Given the description of an element on the screen output the (x, y) to click on. 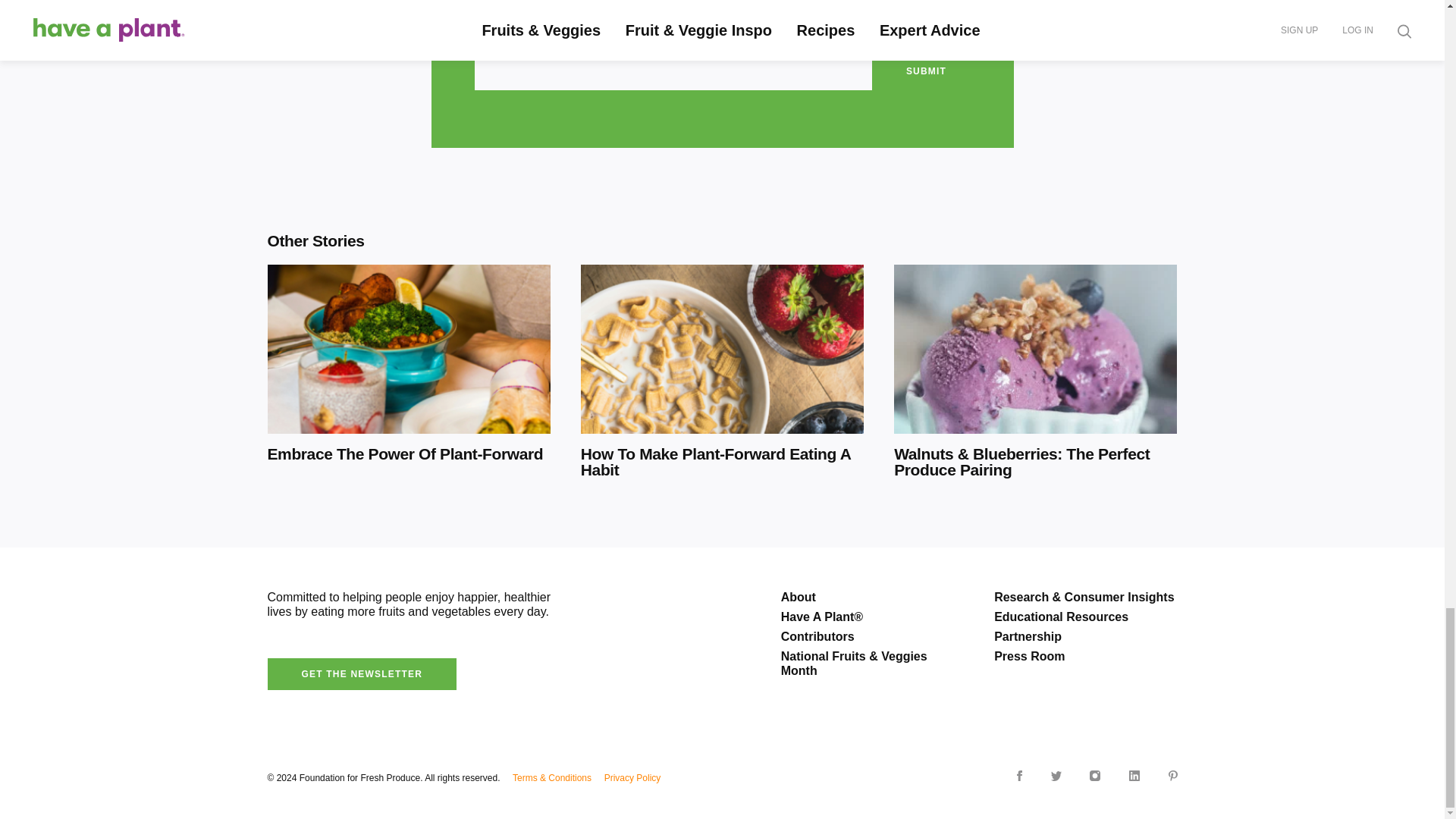
How To Make Plant-Forward Eating A Habit  (721, 376)
Submit (920, 71)
Twitter (1056, 776)
About (871, 596)
GET THE NEWSLETTER (361, 674)
LinkedIn (1134, 775)
Instagram (1094, 775)
Submit (920, 71)
Embrace The Power Of Plant-Forward (408, 376)
